Given the description of an element on the screen output the (x, y) to click on. 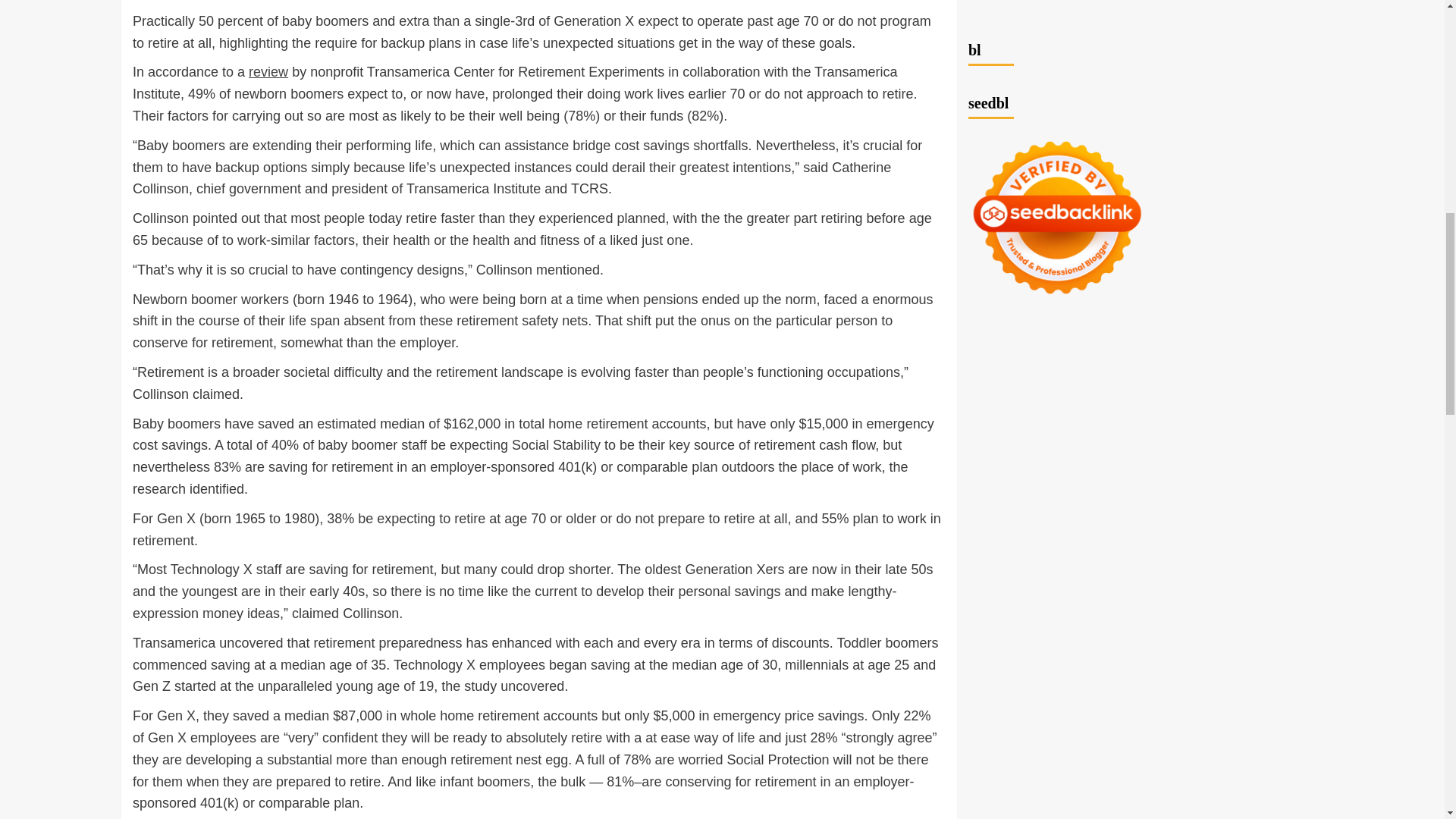
review (268, 71)
